Given the description of an element on the screen output the (x, y) to click on. 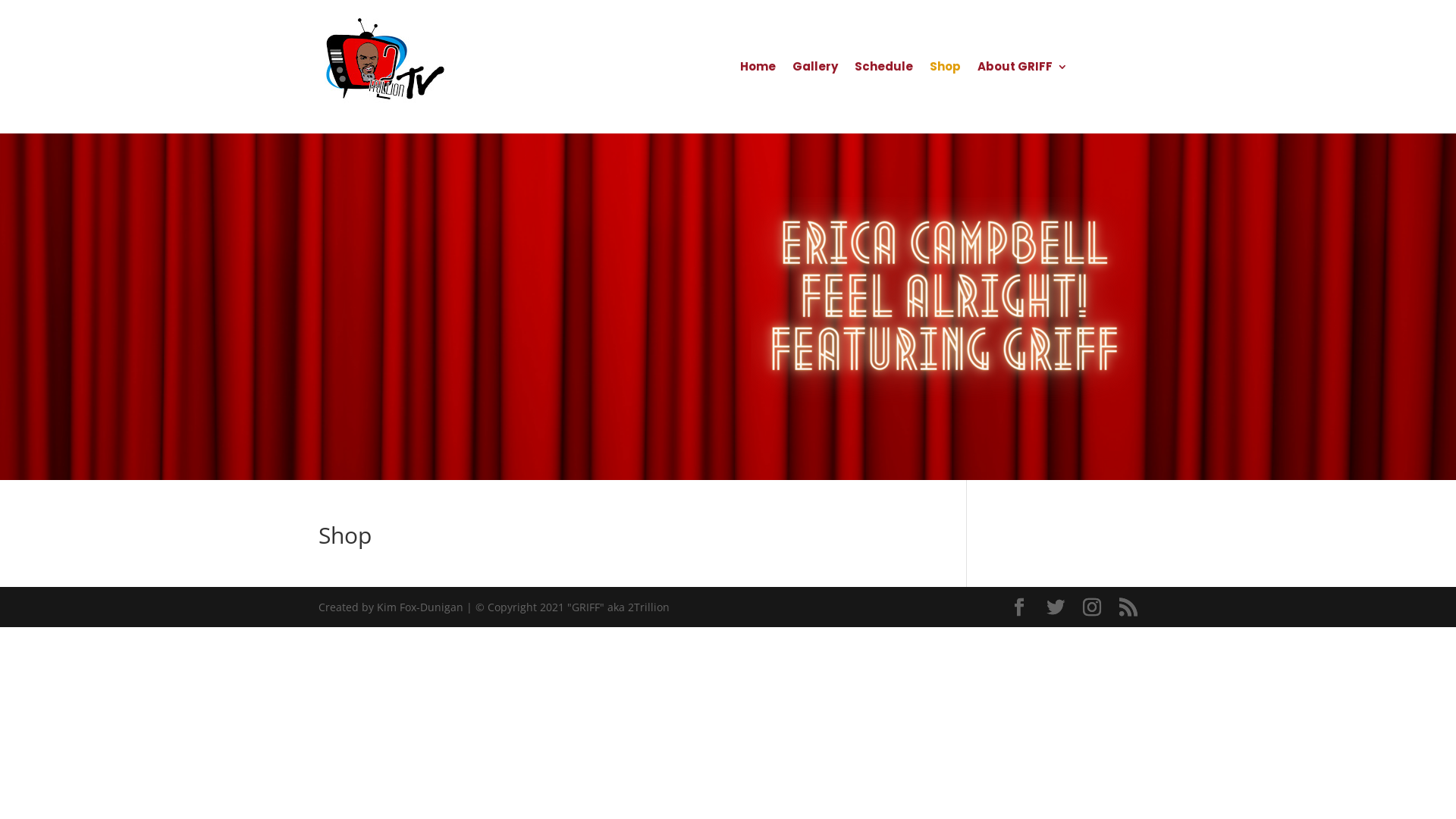
2trillion logo Element type: hover (384, 66)
Shop Element type: text (944, 69)
Home Element type: text (757, 69)
YouTube video player Element type: hover (511, 306)
Feel Alright Element type: hover (943, 306)
About GRIFF Element type: text (1022, 69)
Gallery Element type: text (814, 69)
Schedule Element type: text (883, 69)
